Given the description of an element on the screen output the (x, y) to click on. 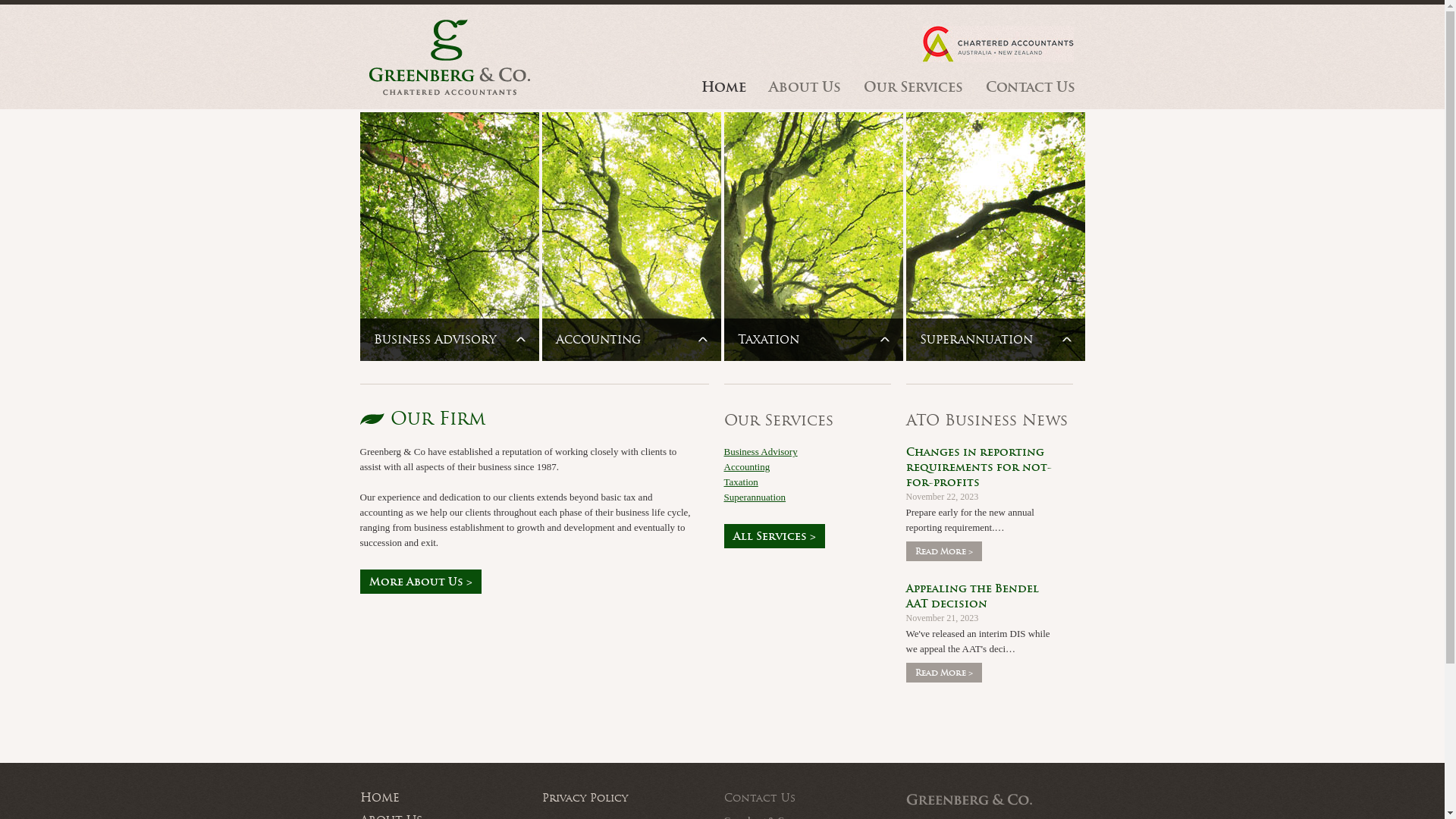
All Services > Element type: text (773, 536)
Read More > Element type: text (943, 672)
Appealing the Bendel AAT decision Element type: text (981, 595)
More About Us > Element type: text (419, 581)
Read More > Element type: text (943, 551)
Our Services Element type: text (912, 86)
About Us Element type: text (804, 86)
Superannuation Element type: text (754, 496)
Business Advisory Element type: text (760, 451)
Taxation Element type: text (740, 481)
Home Element type: text (442, 797)
Contact Us Element type: text (1030, 86)
Privacy Policy Element type: text (624, 797)
Home Element type: text (722, 86)
Changes in reporting requirements for not-for-profits Element type: text (981, 466)
Accounting Element type: text (746, 466)
